Given the description of an element on the screen output the (x, y) to click on. 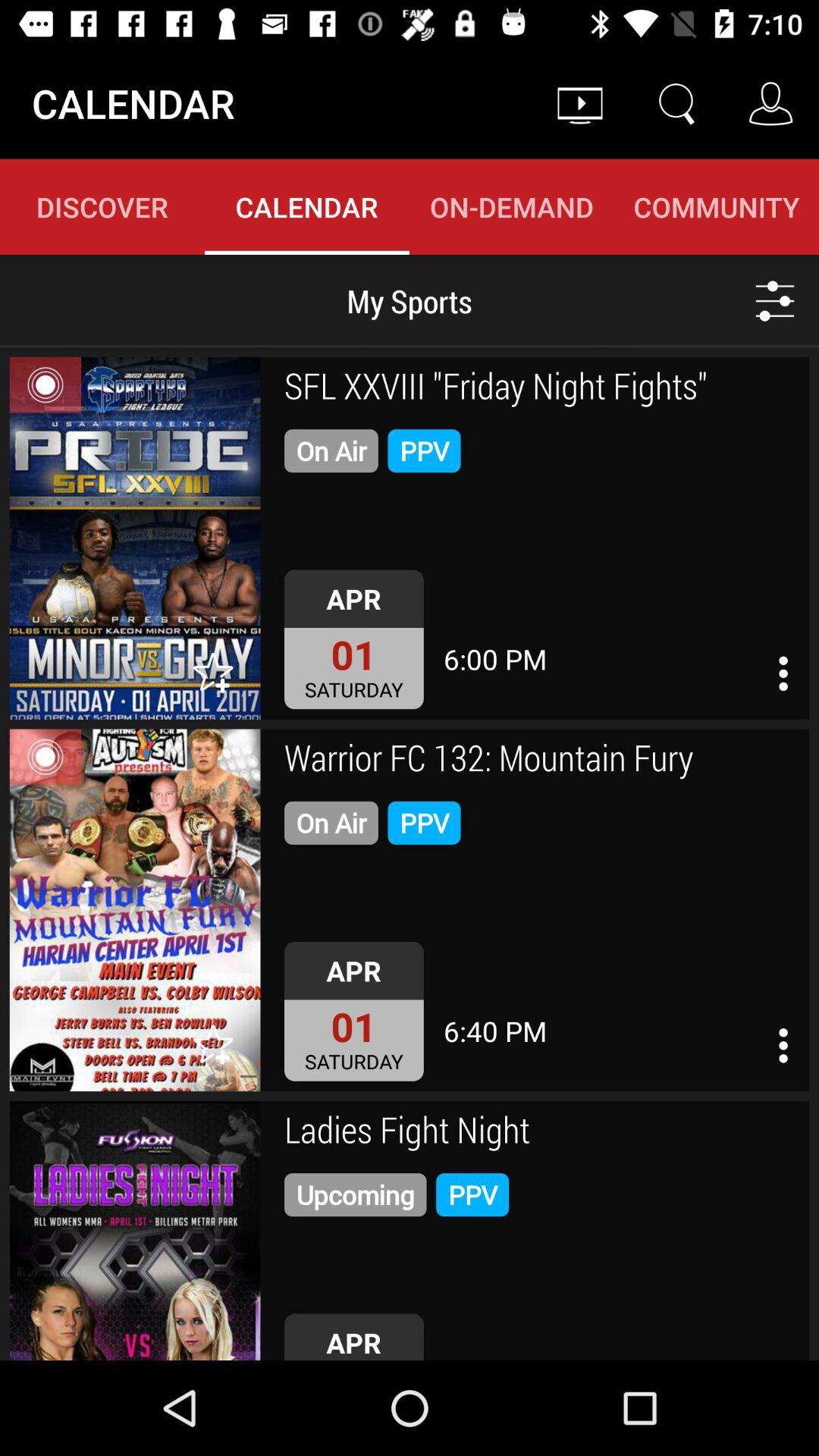
filter options (775, 300)
